Given the description of an element on the screen output the (x, y) to click on. 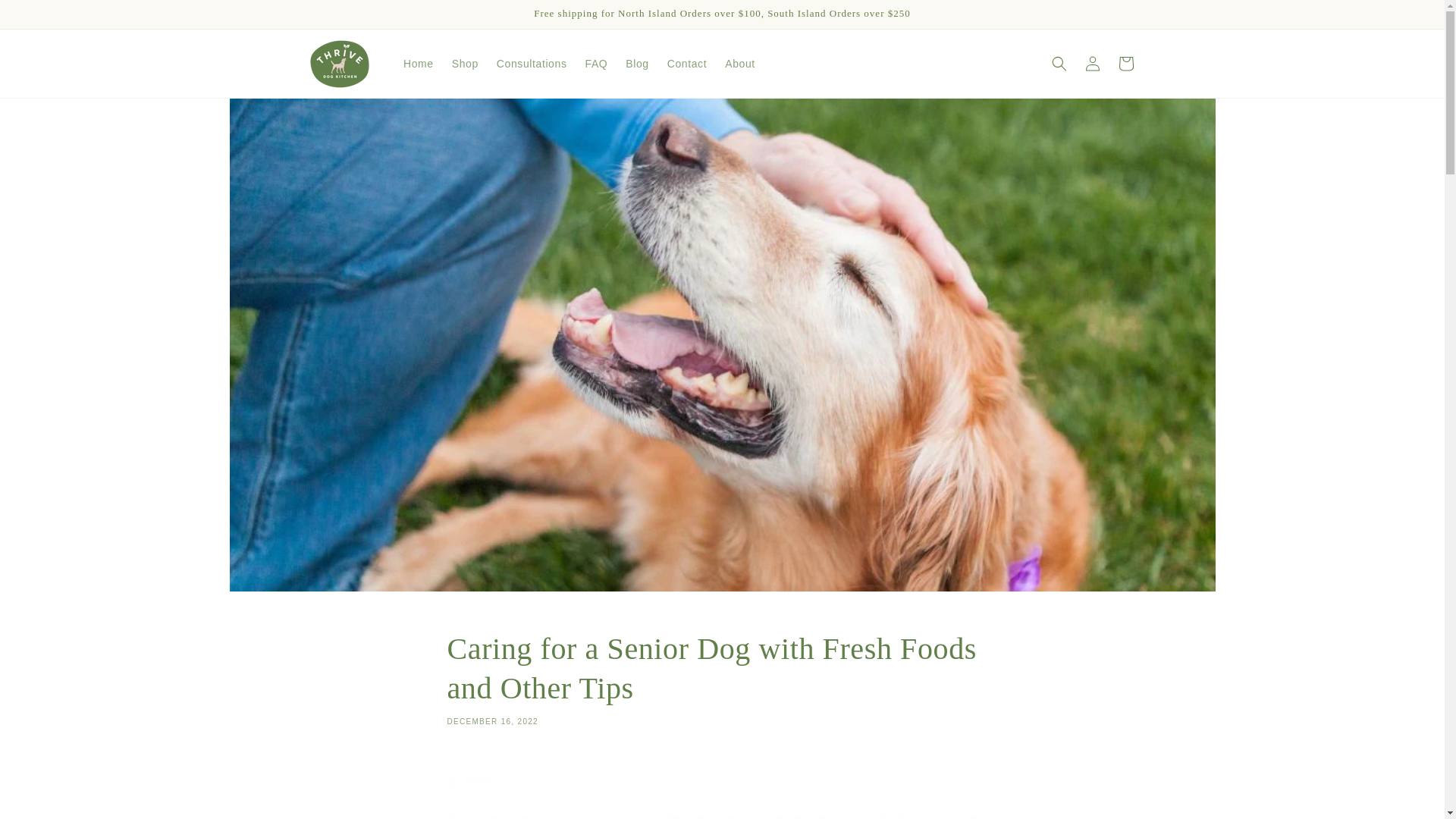
Shop (464, 63)
Log in (1091, 63)
About (740, 63)
Cart (1124, 63)
Contact (687, 63)
Share (721, 780)
Consultations (531, 63)
FAQ (596, 63)
Home (418, 63)
